Given the description of an element on the screen output the (x, y) to click on. 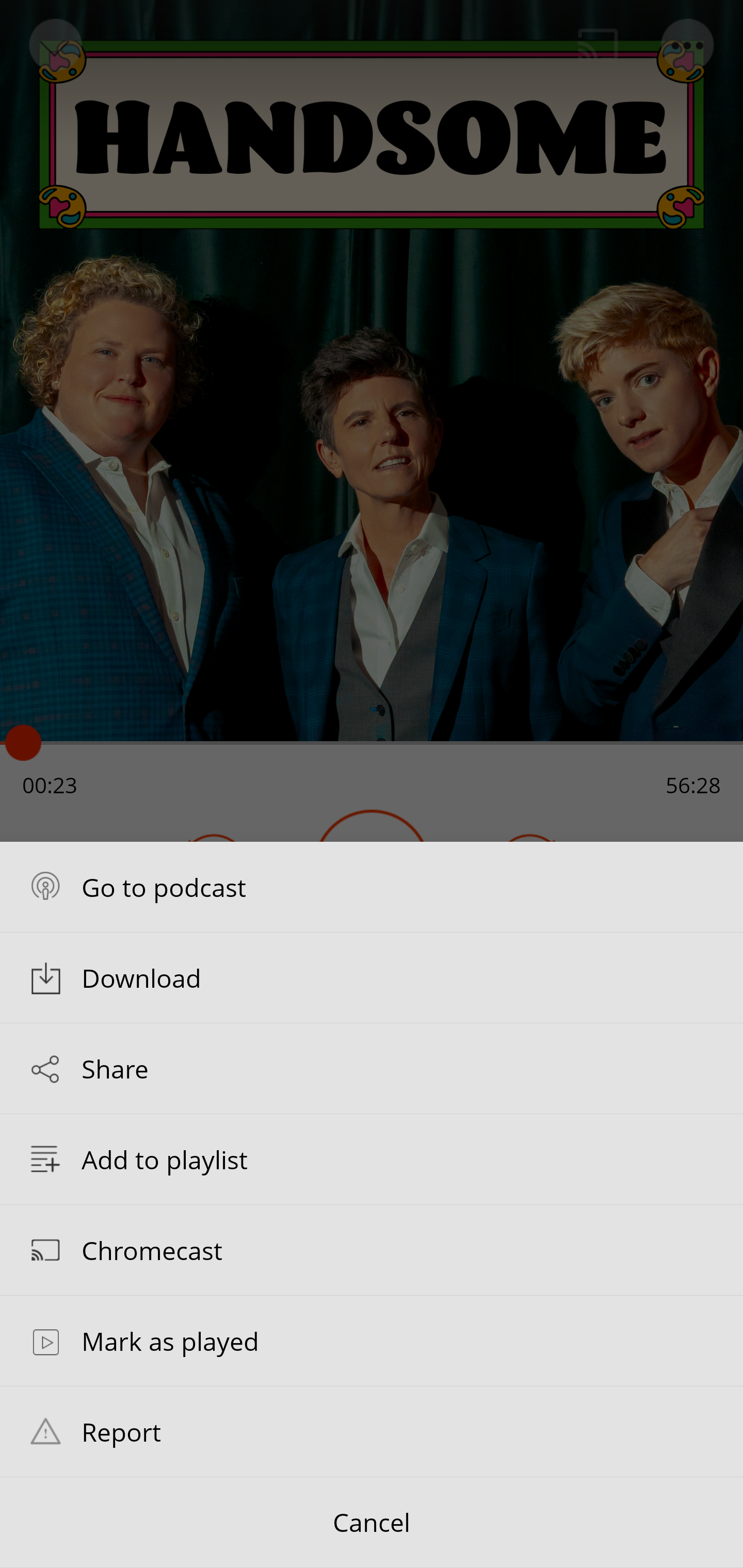
Go to podcast (371, 886)
Download (371, 977)
Share (371, 1068)
Add to playlist (371, 1159)
Chromecast (371, 1249)
Mark as played (371, 1340)
Report (371, 1431)
Cancel (371, 1522)
